Given the description of an element on the screen output the (x, y) to click on. 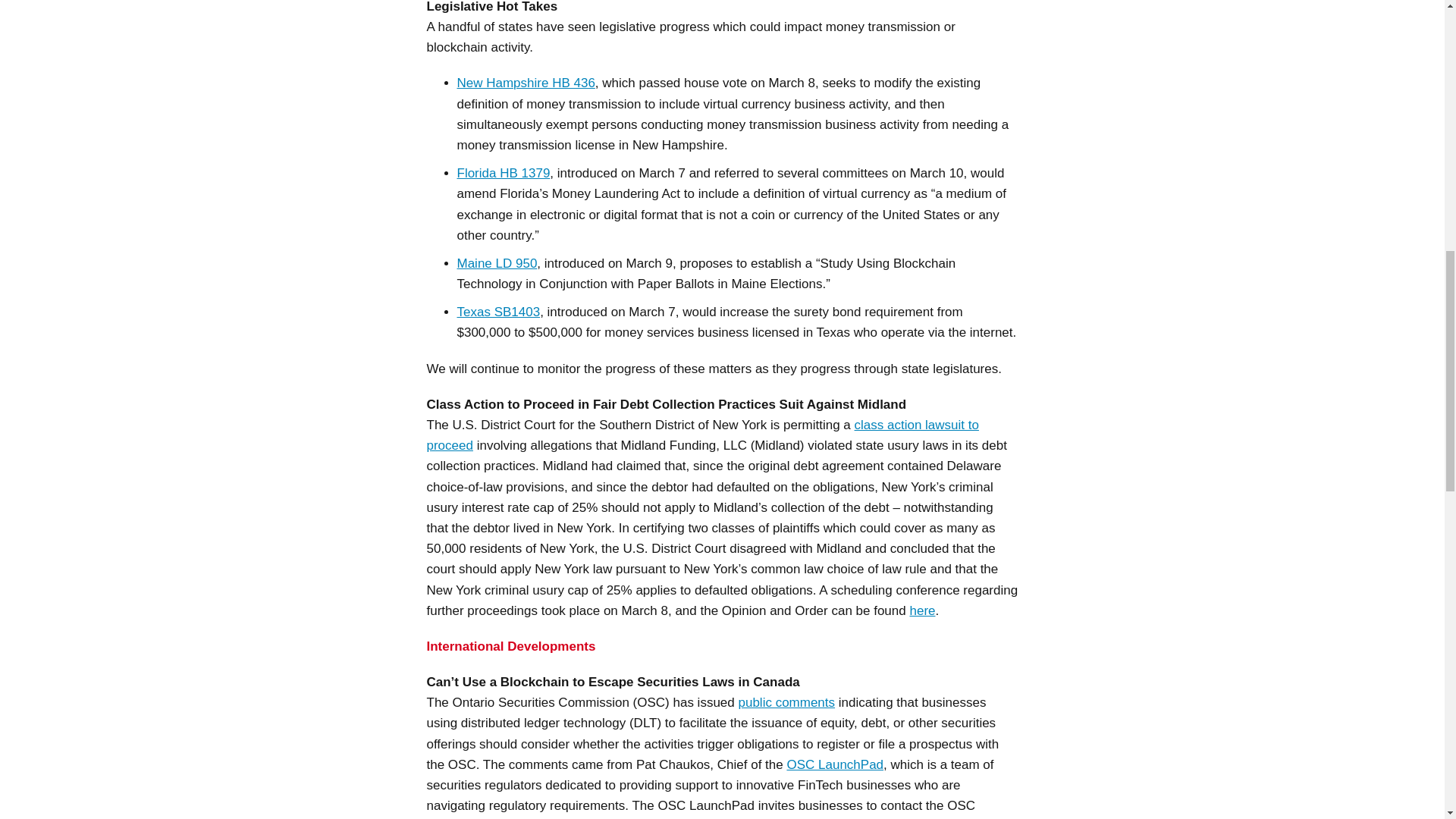
public comments (786, 702)
class action lawsuit to proceed (702, 434)
Florida HB 1379 (503, 173)
OSC LaunchPad (834, 764)
Maine LD 950 (497, 263)
here (921, 610)
Texas SB1403 (498, 311)
New Hampshire HB 436 (525, 83)
